Given the description of an element on the screen output the (x, y) to click on. 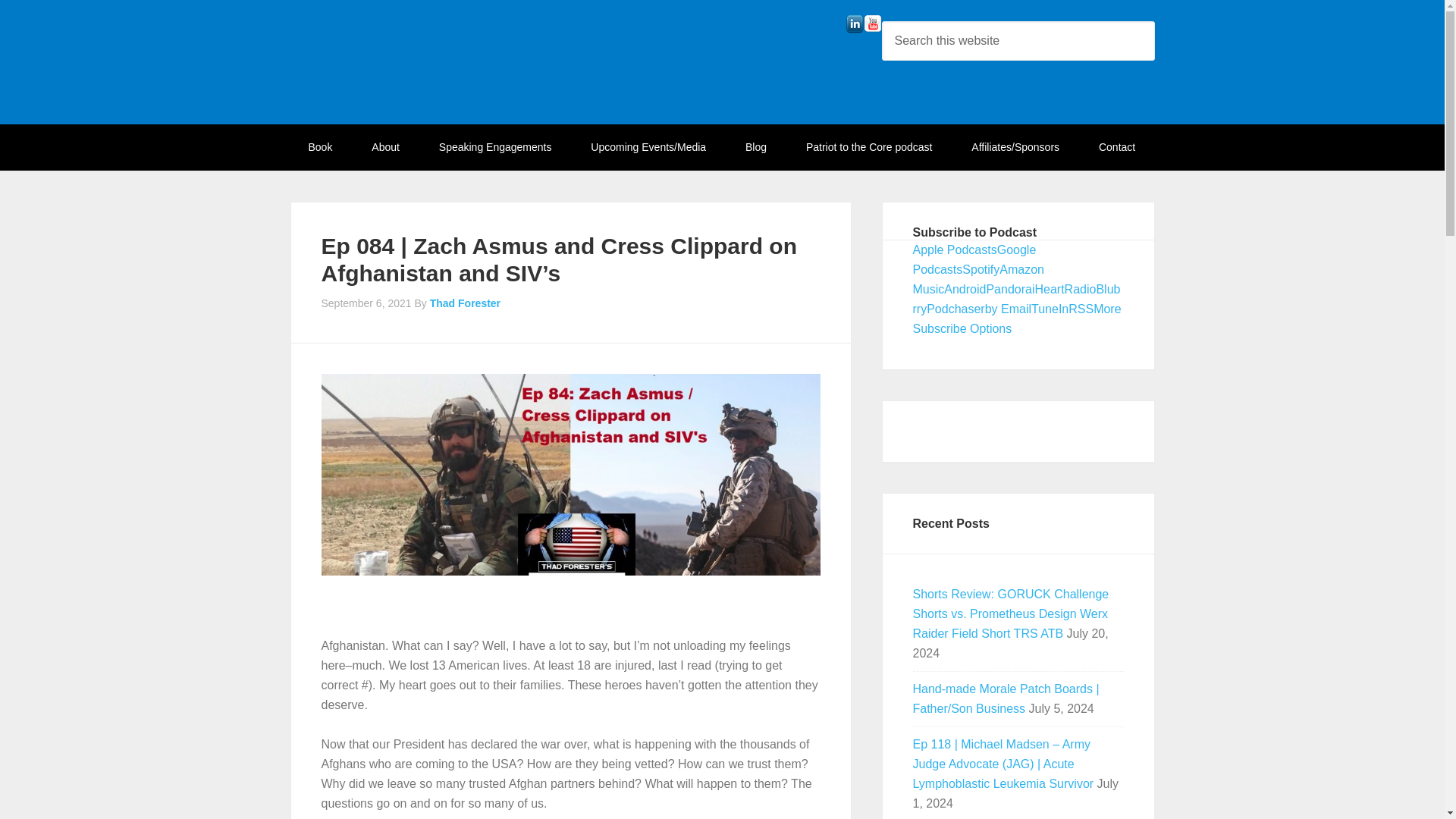
Speaking Engagements (495, 147)
Blog (755, 147)
Patriot to the Core podcast (868, 147)
About (385, 147)
Book (319, 147)
Contact (1116, 147)
Thad Forester (464, 303)
